Given the description of an element on the screen output the (x, y) to click on. 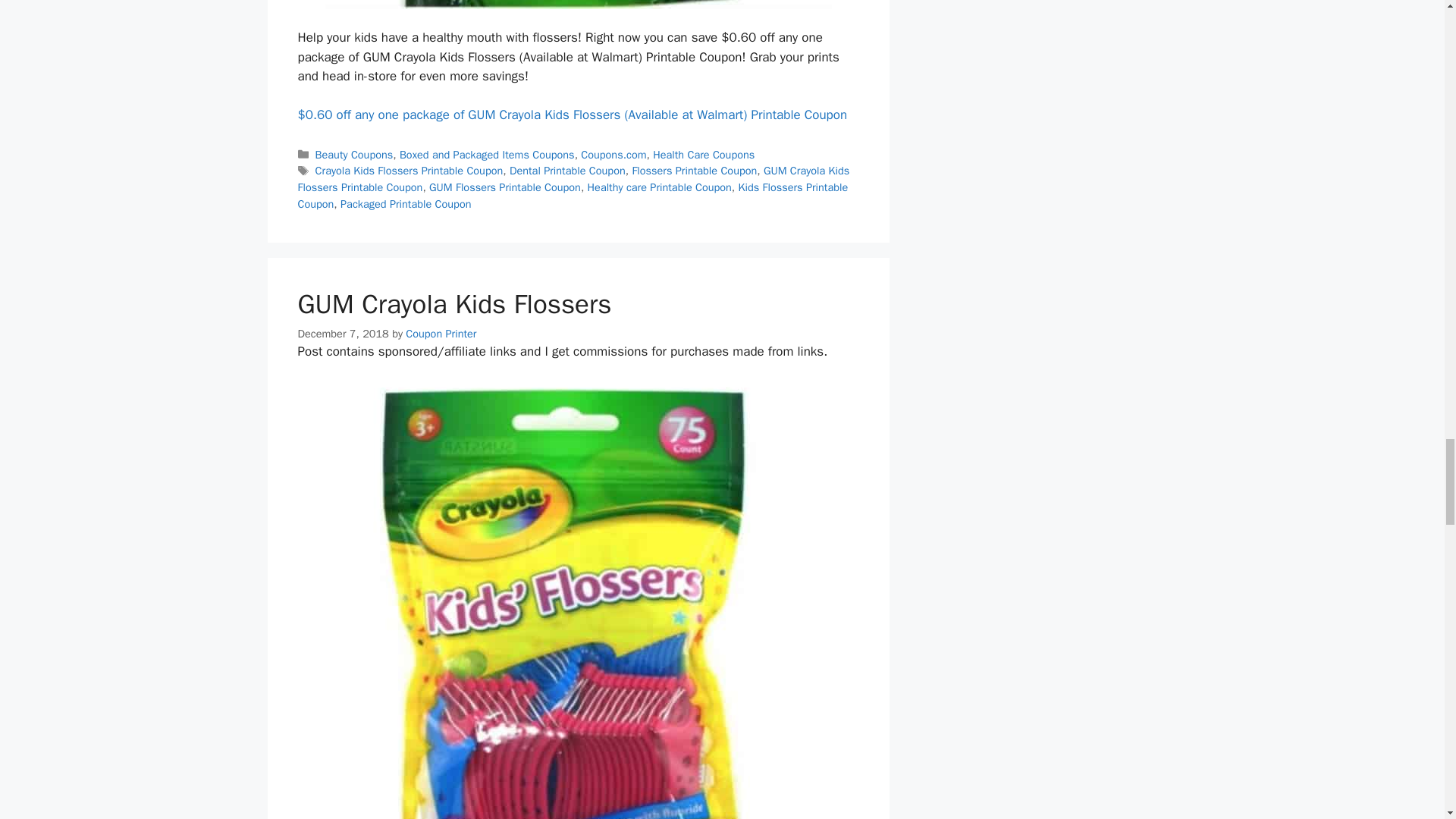
View all posts by Coupon Printer (441, 333)
